Given the description of an element on the screen output the (x, y) to click on. 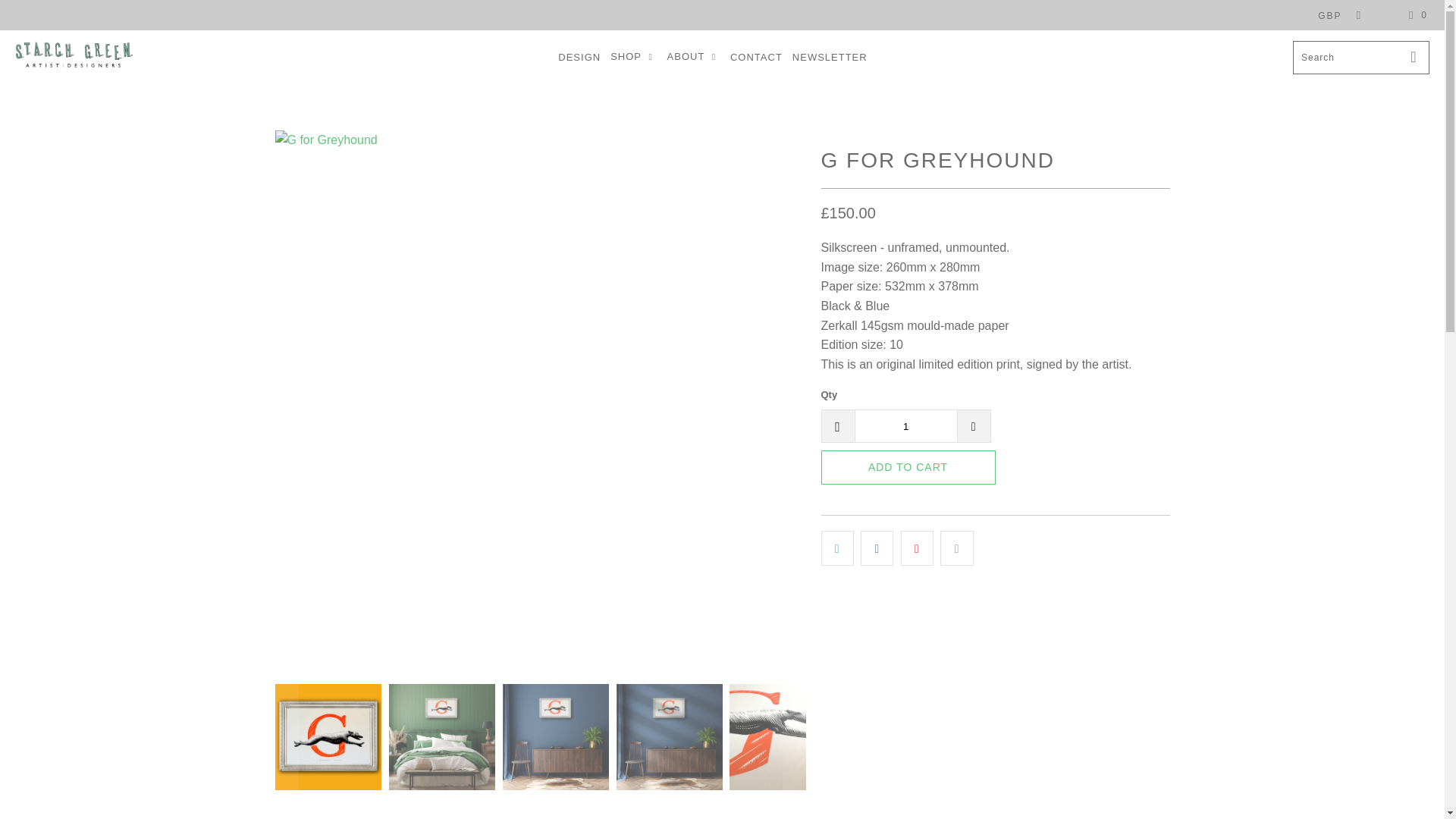
Starch Green (73, 56)
1 (904, 426)
Share this on Facebook (876, 547)
Email this to a friend (956, 547)
Share this on Pinterest (917, 547)
Share this on Twitter (837, 547)
